Given the description of an element on the screen output the (x, y) to click on. 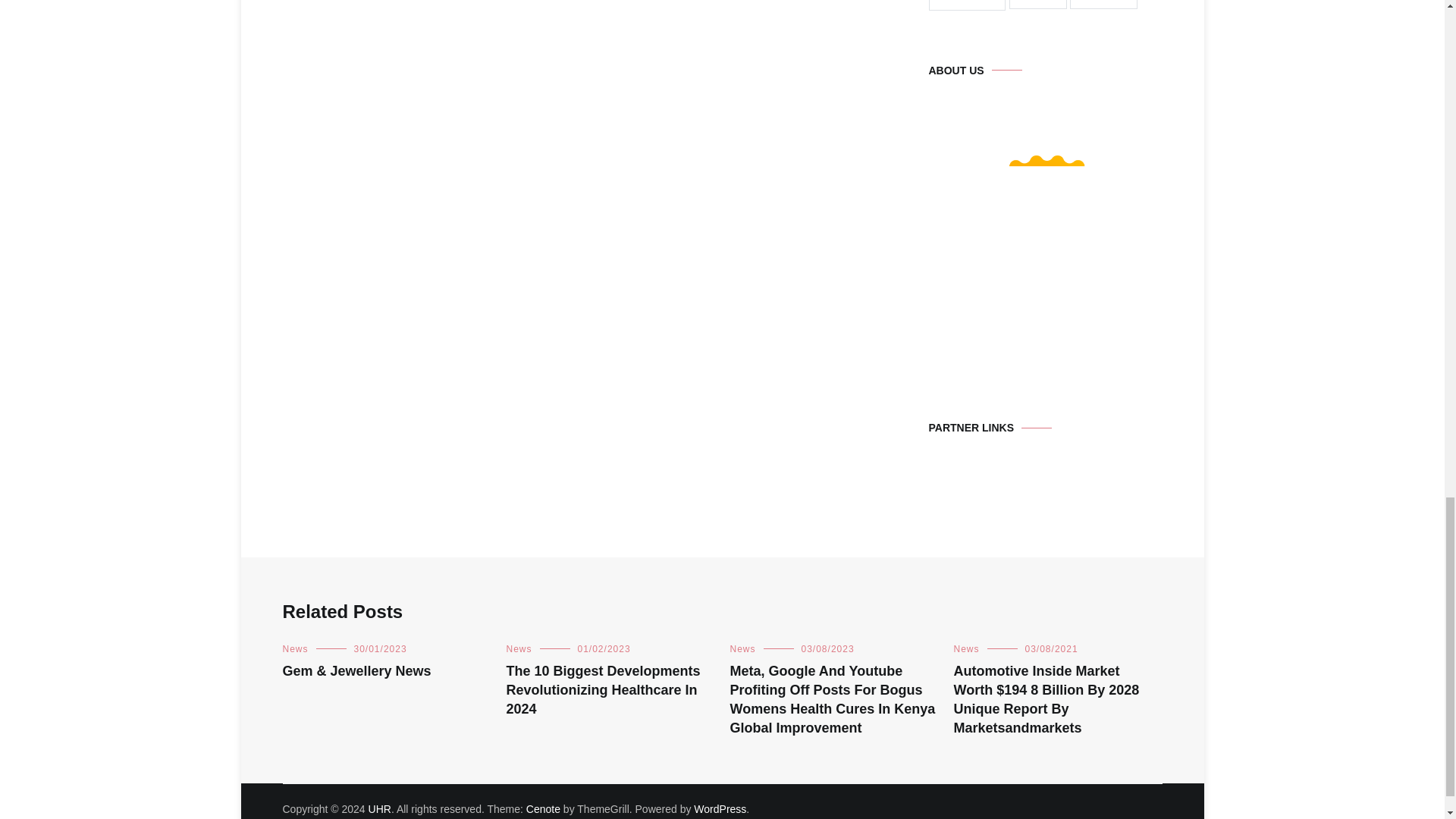
UHR (379, 808)
Seedbacklink (1044, 255)
